Given the description of an element on the screen output the (x, y) to click on. 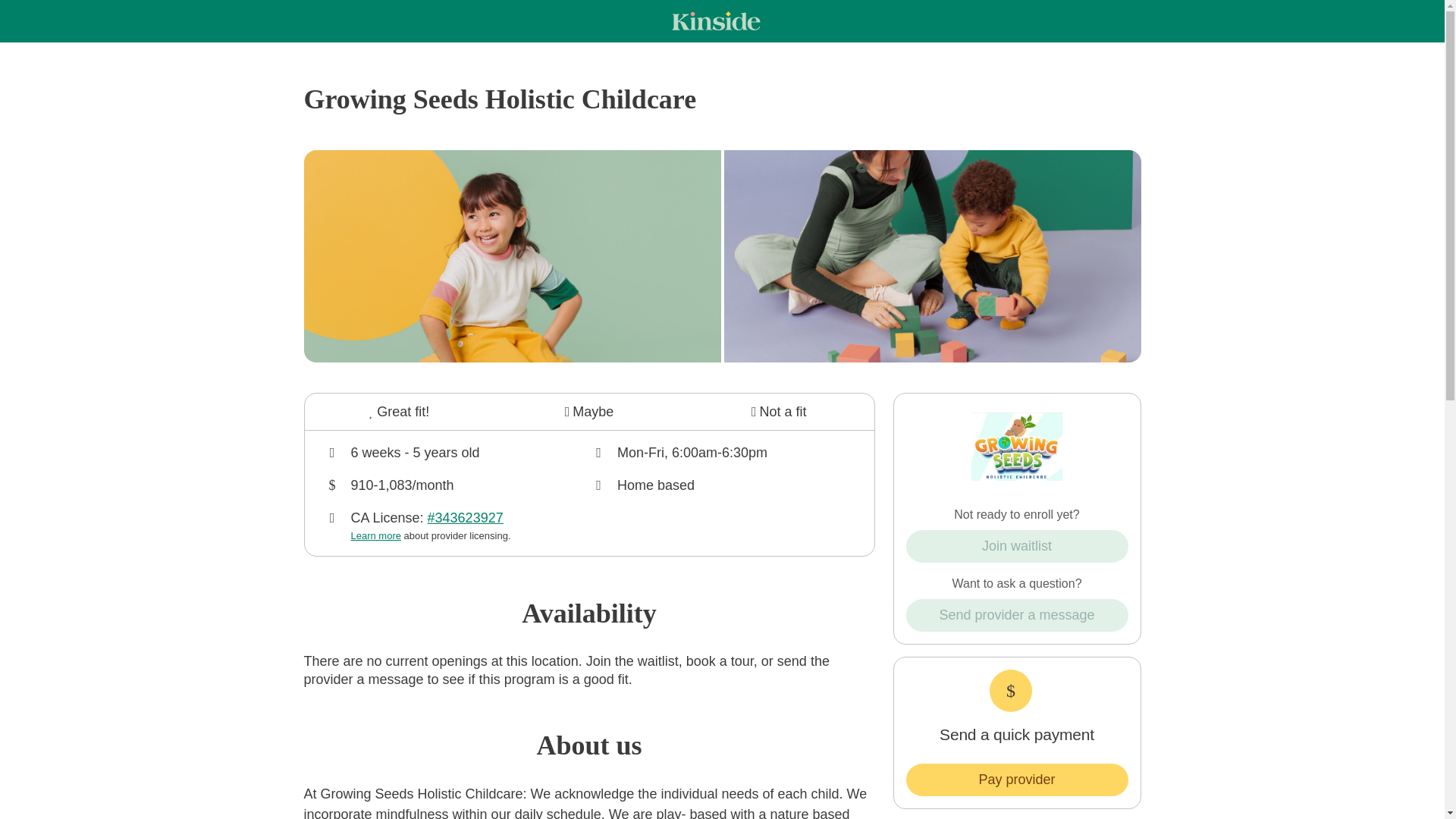
Maybe (589, 411)
Age range for children that this provider cares for (456, 453)
Send provider a message (1015, 614)
Learn more (375, 535)
Not a fit (778, 411)
Great fit! (399, 411)
Join waitlist (1015, 545)
License number (456, 525)
Average tuition for this program (456, 485)
Pay provider (1015, 779)
